Given the description of an element on the screen output the (x, y) to click on. 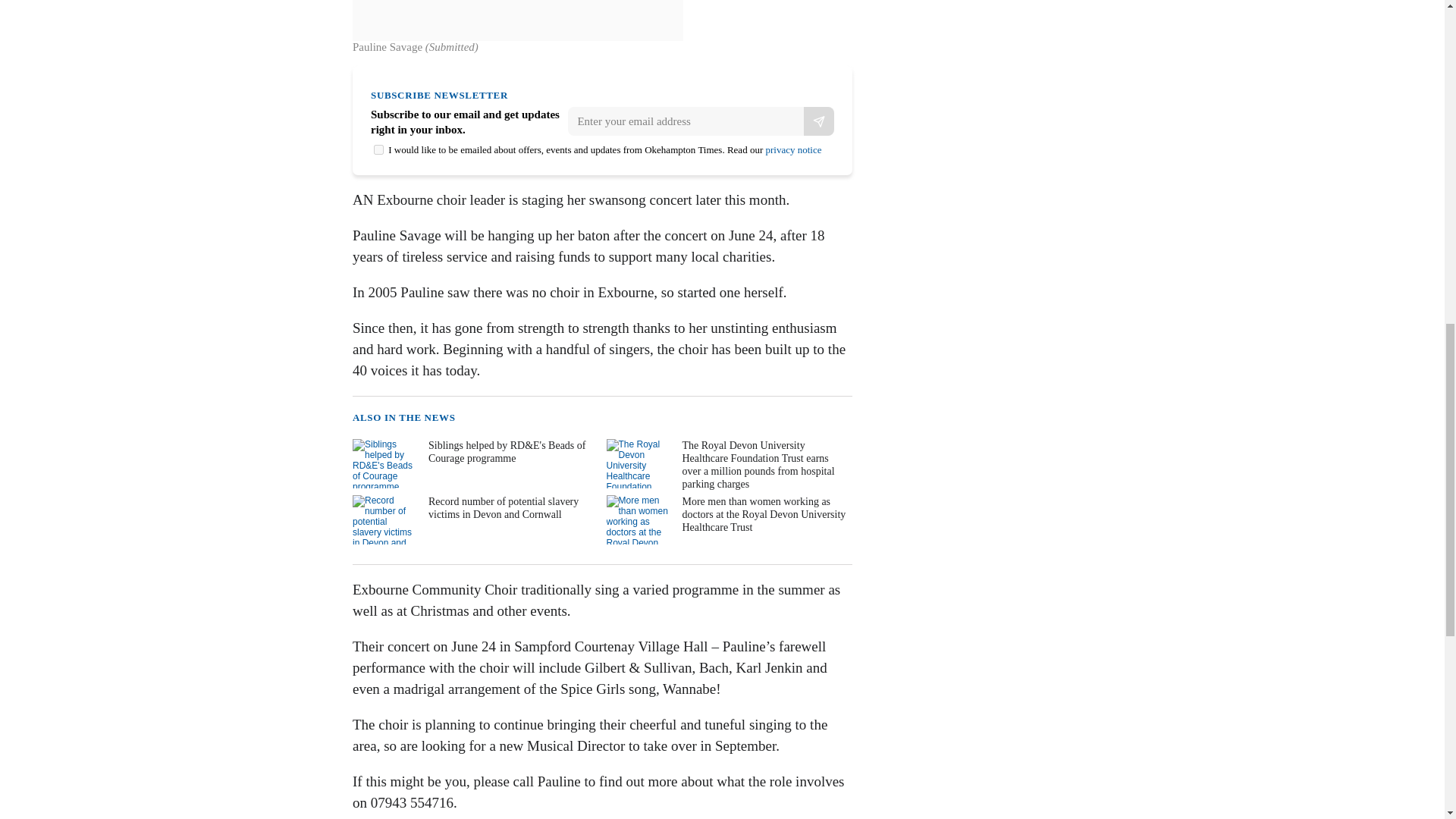
on (379, 149)
privacy notice (793, 149)
